Given the description of an element on the screen output the (x, y) to click on. 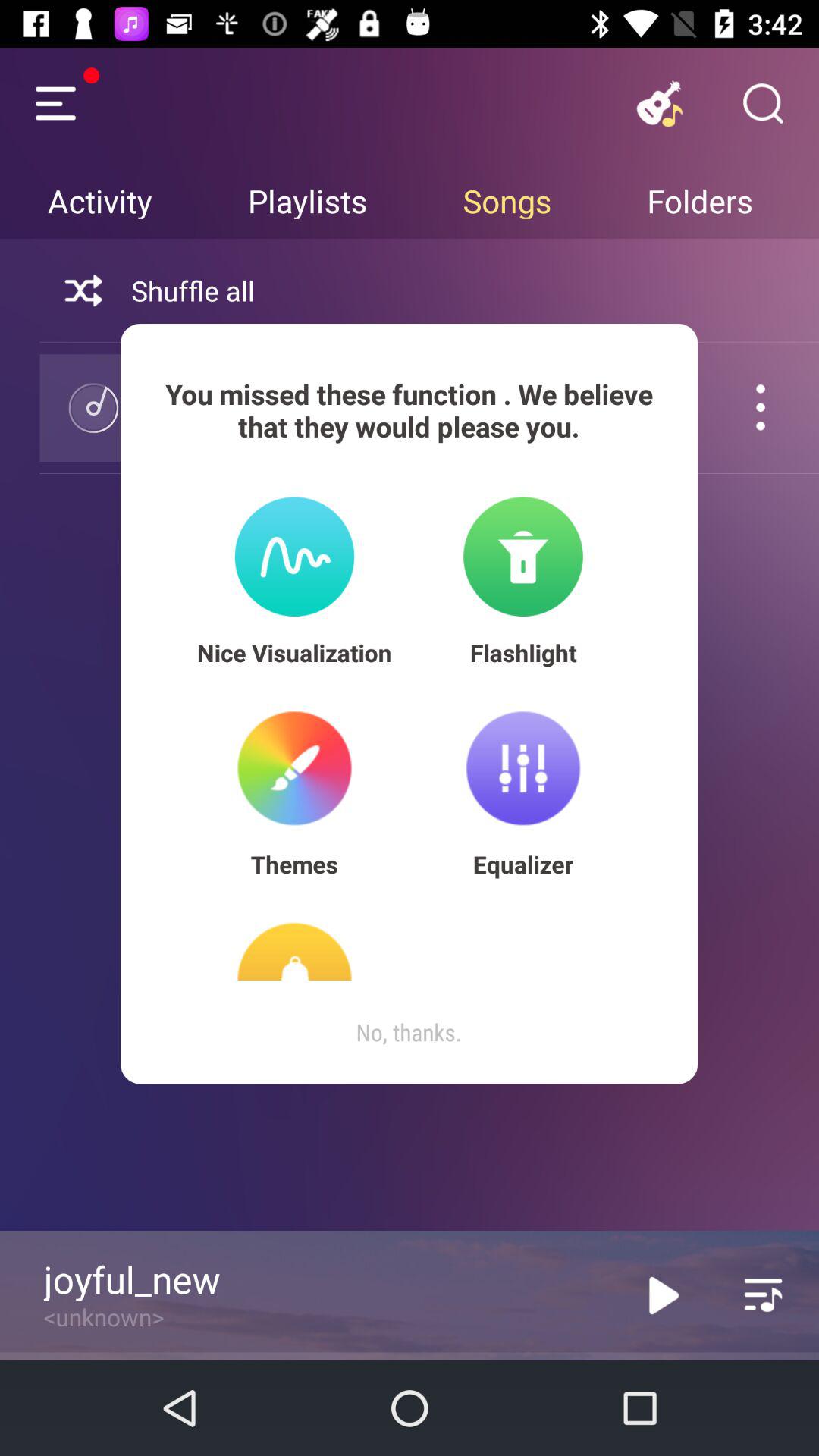
launch icon to the right of themes (523, 864)
